Given the description of an element on the screen output the (x, y) to click on. 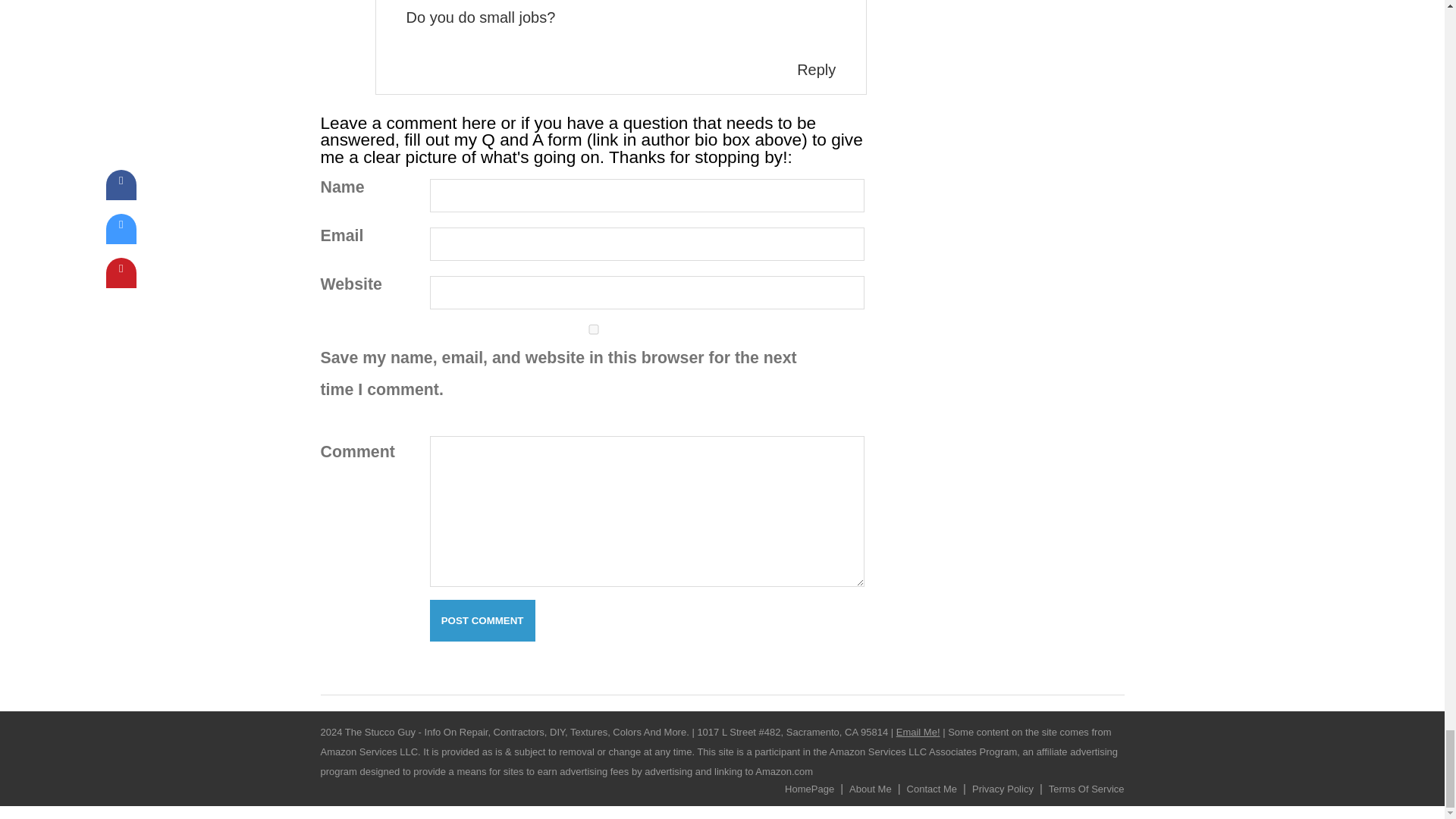
yes (593, 329)
Reply (815, 69)
POST COMMENT (482, 620)
